Given the description of an element on the screen output the (x, y) to click on. 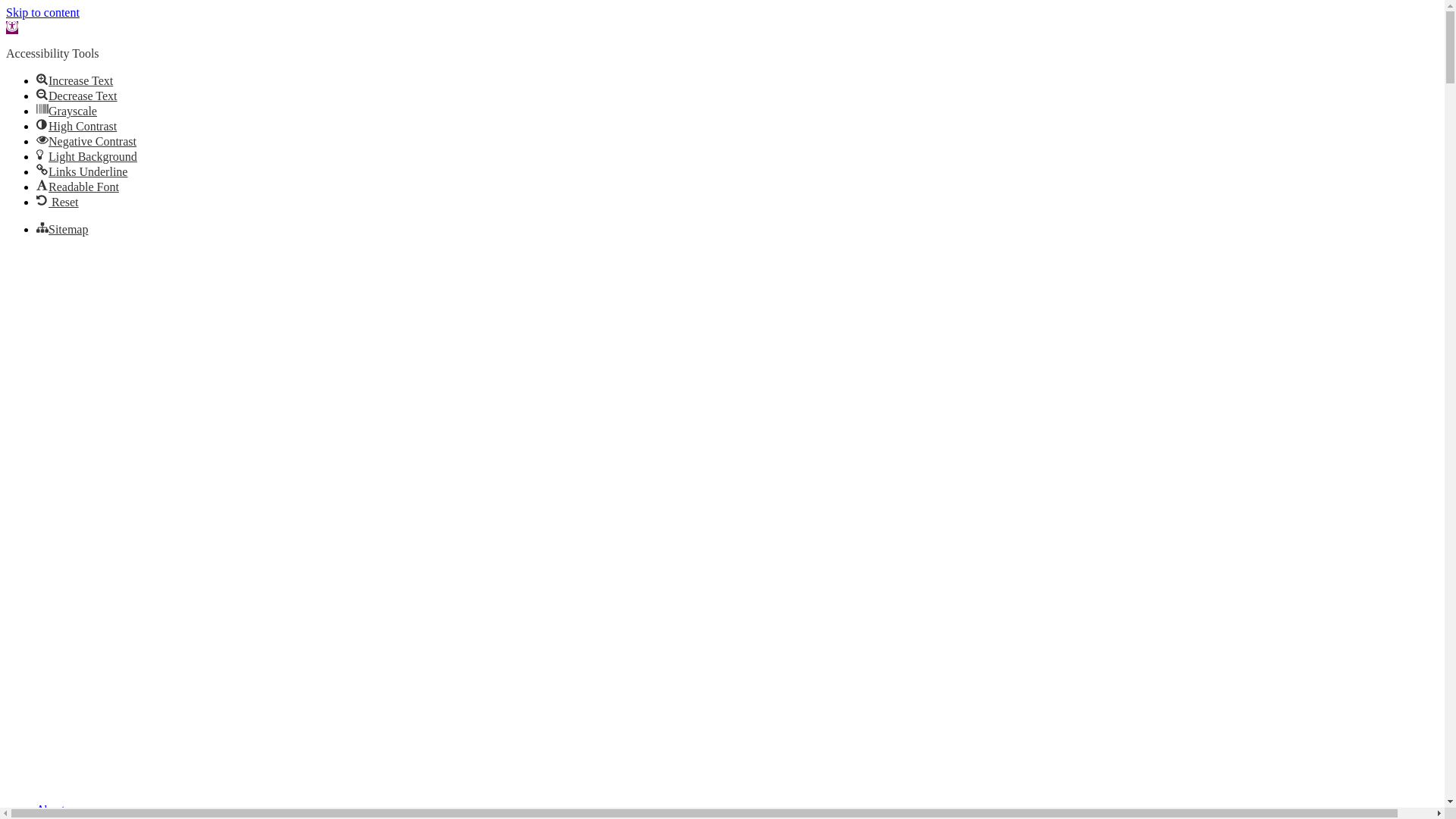
SitemapSitemap Element type: text (61, 228)
Readable FontReadable Font Element type: text (77, 186)
High ContrastHigh Contrast Element type: text (76, 125)
GrayscaleGrayscale Element type: text (66, 110)
Open toolbar
Accessibility Tools Element type: text (12, 27)
About Element type: text (50, 808)
Decrease TextDecrease Text Element type: text (76, 95)
Increase TextIncrease Text Element type: text (74, 80)
Skip to main content Element type: text (5, 247)
Reset Reset Element type: text (57, 201)
Links UnderlineLinks Underline Element type: text (81, 171)
Light BackgroundLight Background Element type: text (86, 156)
Skip to content Element type: text (42, 12)
Negative ContrastNegative Contrast Element type: text (86, 140)
